Given the description of an element on the screen output the (x, y) to click on. 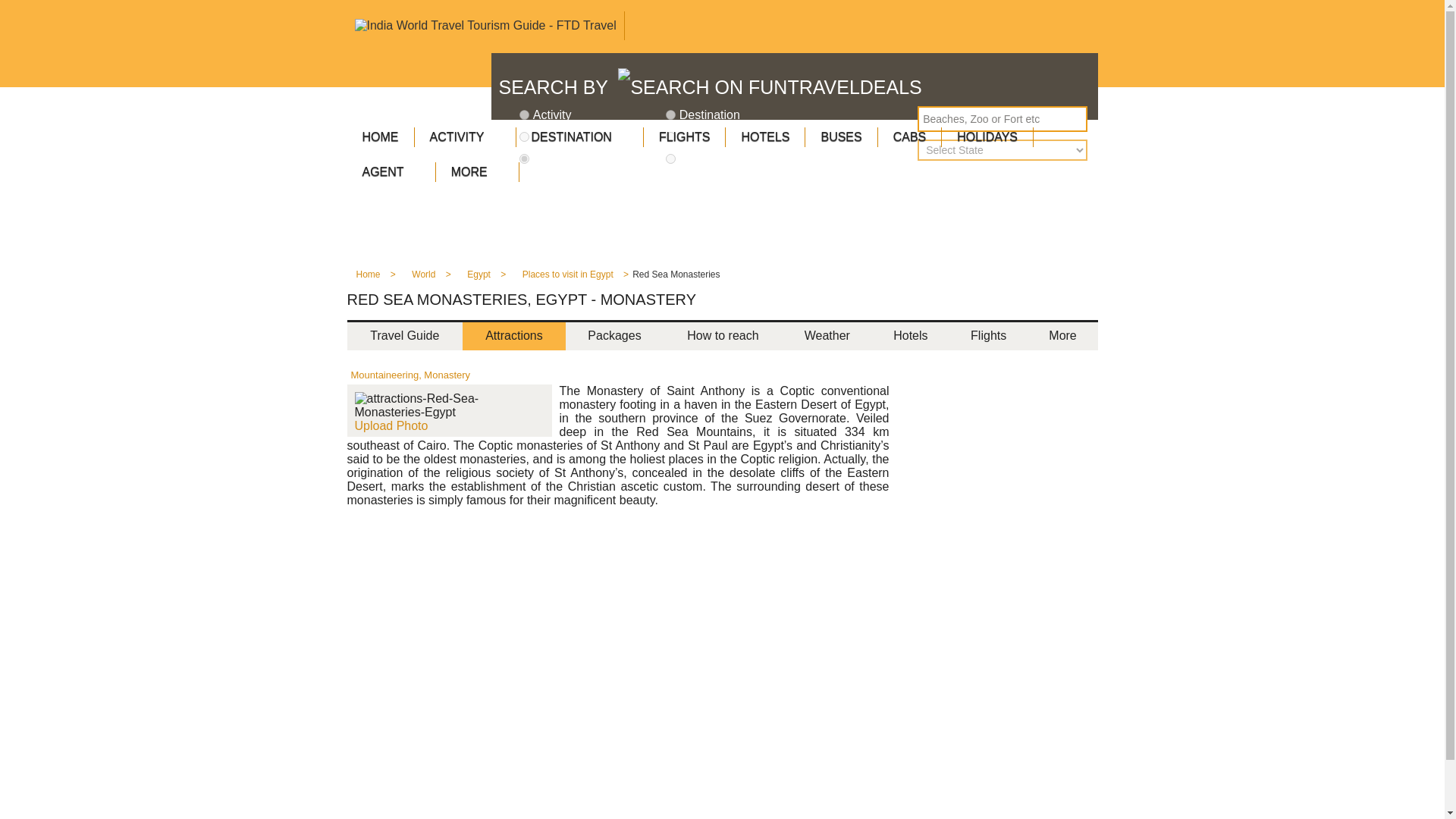
HOME (380, 137)
Red Sea Monasteries Egypt (449, 405)
CABS (909, 137)
DESTINATION (579, 137)
6 (524, 158)
BUSES (841, 137)
5 (670, 158)
1 (524, 114)
Search on Fun Travel Deals (769, 86)
HOTELS (765, 137)
MORE (477, 172)
Egypt (478, 278)
Beaches, Zoo or Fort etc (1002, 118)
2 (670, 114)
India World Travel Tourism Guide - FTD Travel (485, 25)
